Given the description of an element on the screen output the (x, y) to click on. 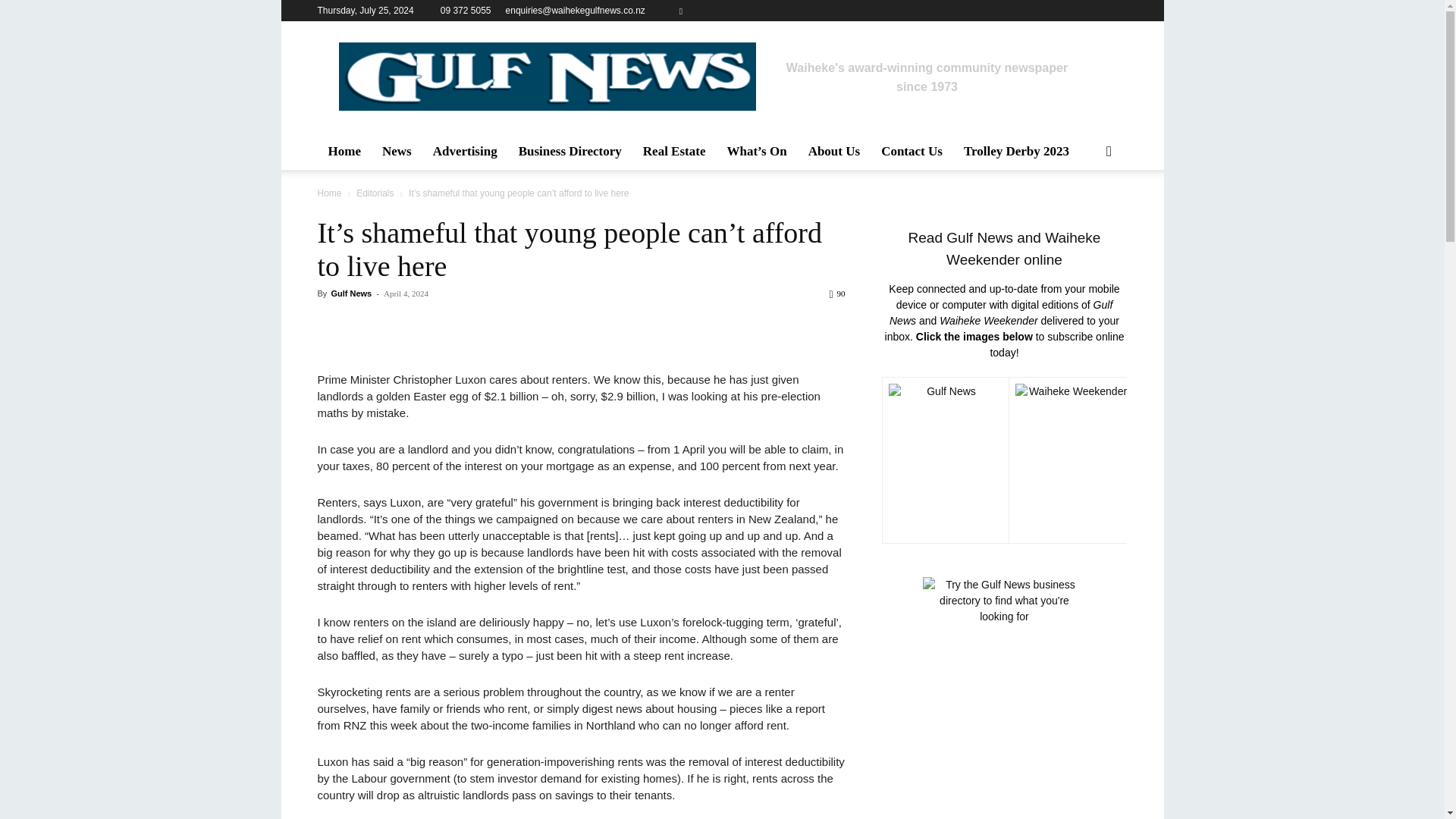
Best Independent Community Newspaper 2022 (546, 76)
View all posts in Editorials (374, 193)
Facebook (681, 10)
09 372 5055 (466, 9)
